Given the description of an element on the screen output the (x, y) to click on. 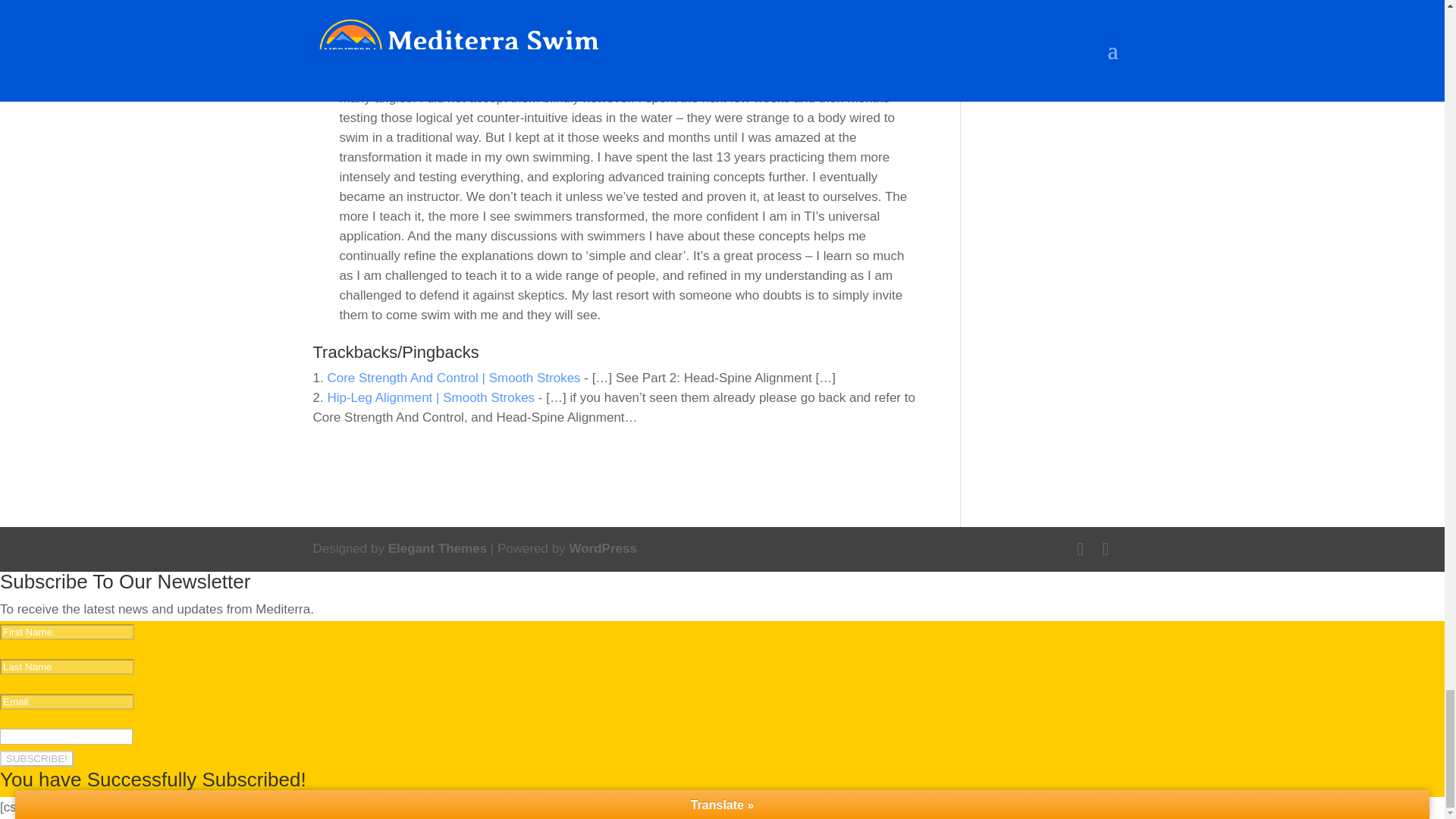
Premium WordPress Themes (437, 548)
MaviMat (363, 19)
